Given the description of an element on the screen output the (x, y) to click on. 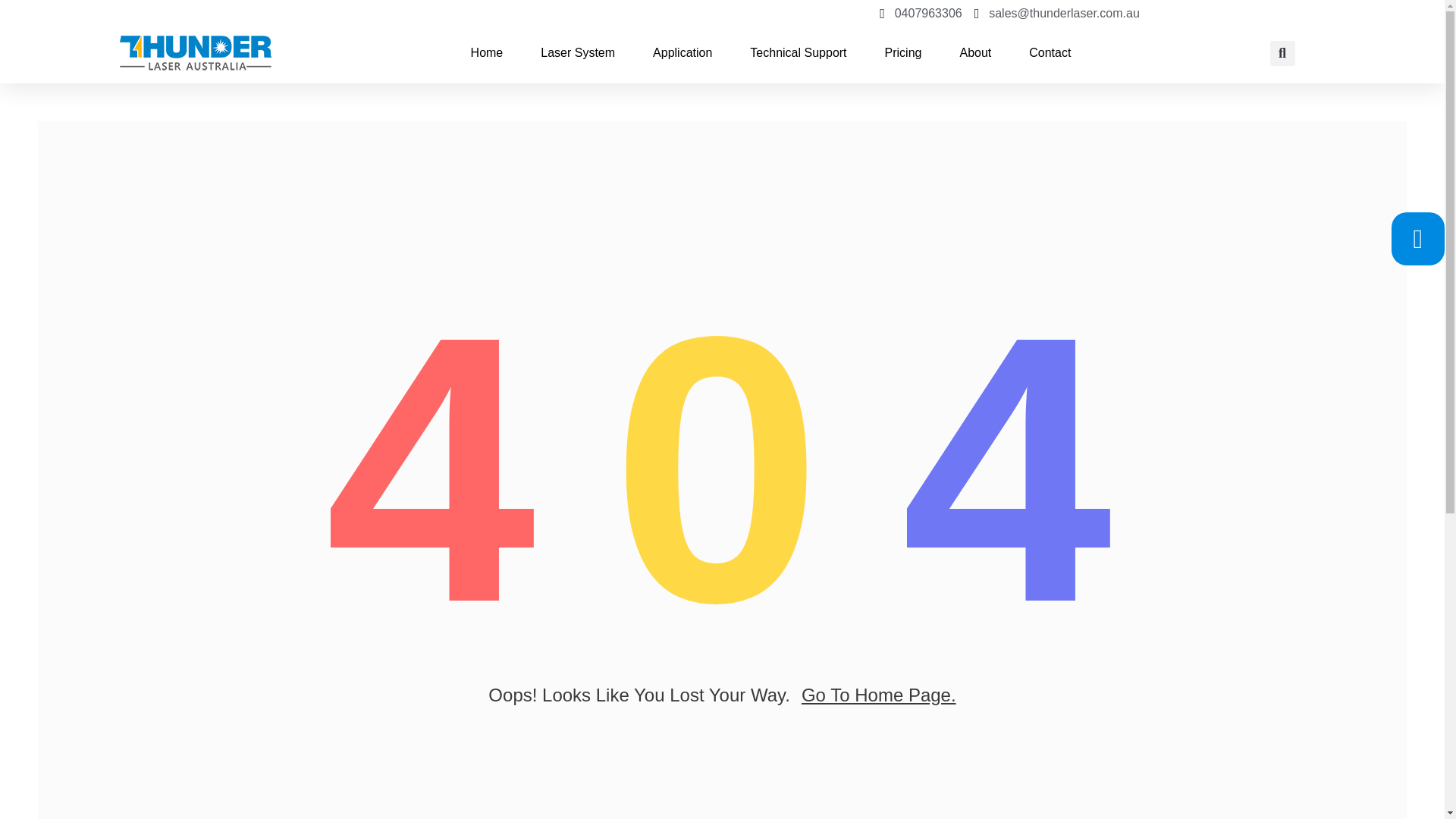
Home (486, 53)
Pricing (903, 53)
Technical Support (797, 53)
Laser System (577, 53)
Contact (1049, 53)
About (975, 53)
Application (681, 53)
